Given the description of an element on the screen output the (x, y) to click on. 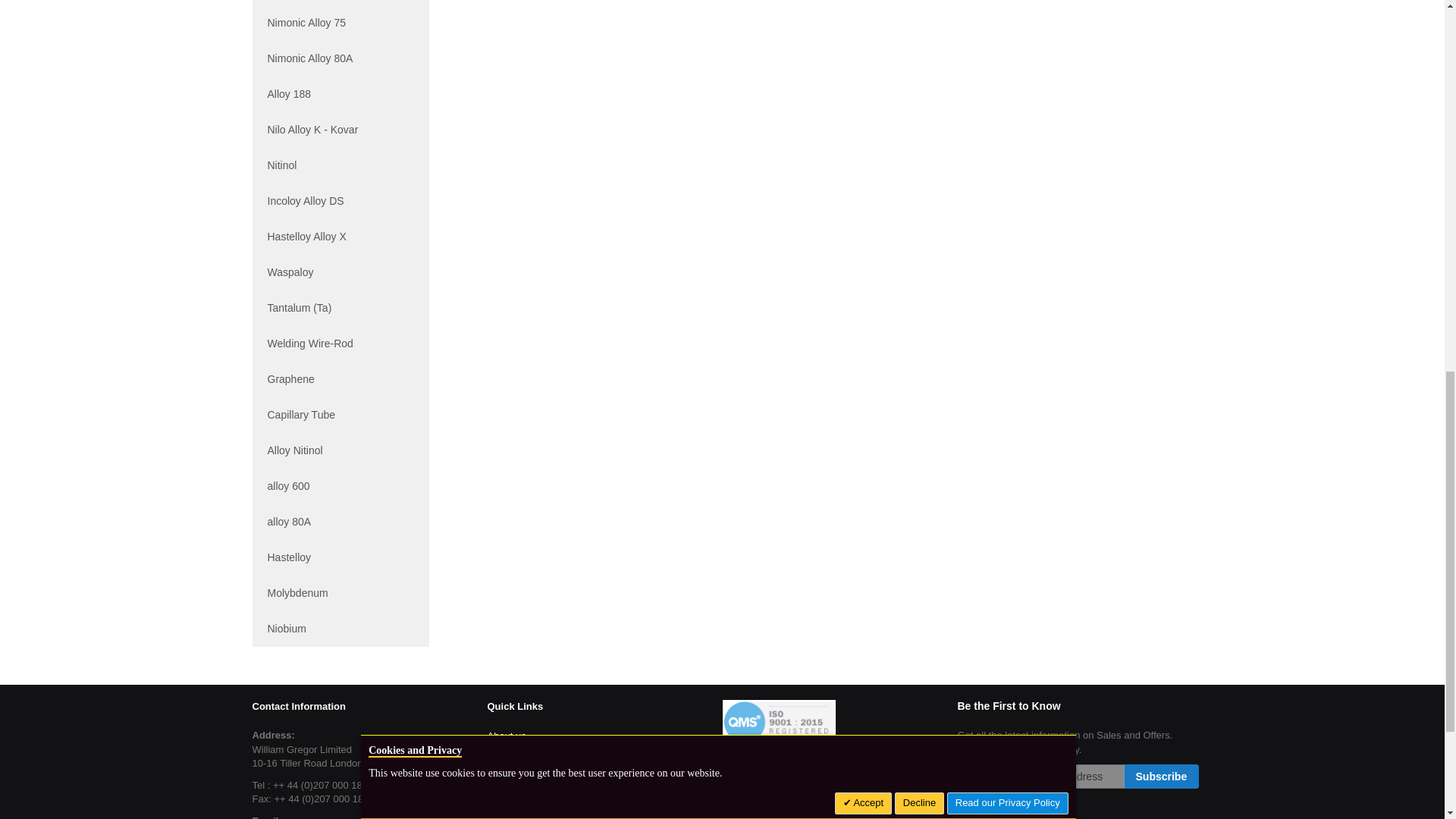
Terms and Conditions (534, 756)
Contact us (510, 799)
About us (505, 735)
Subscribe (1161, 776)
Trademark (510, 777)
ST (778, 812)
